Given the description of an element on the screen output the (x, y) to click on. 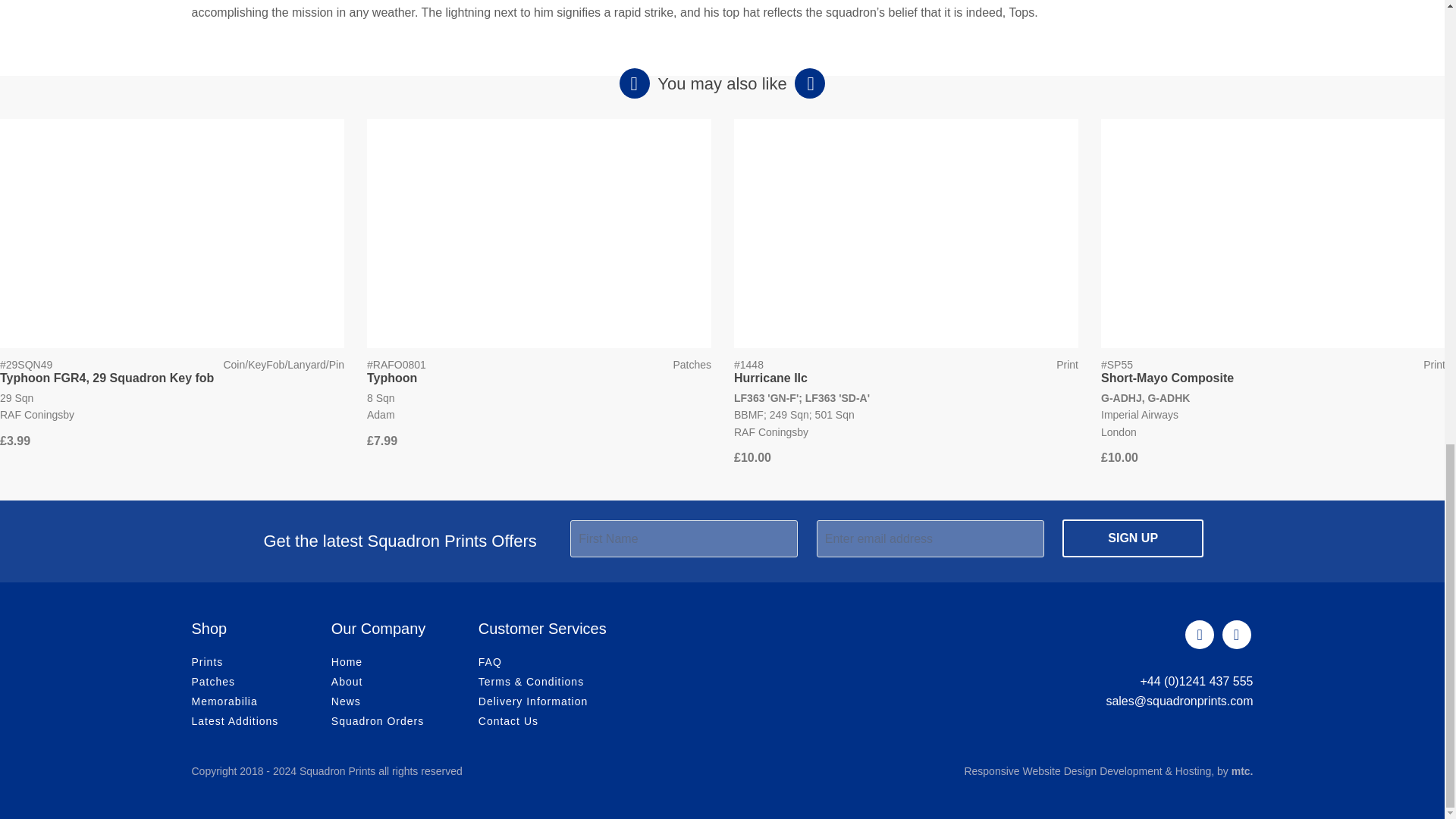
Opens in a new window (1087, 770)
Opens in a new window (1242, 770)
